Given the description of an element on the screen output the (x, y) to click on. 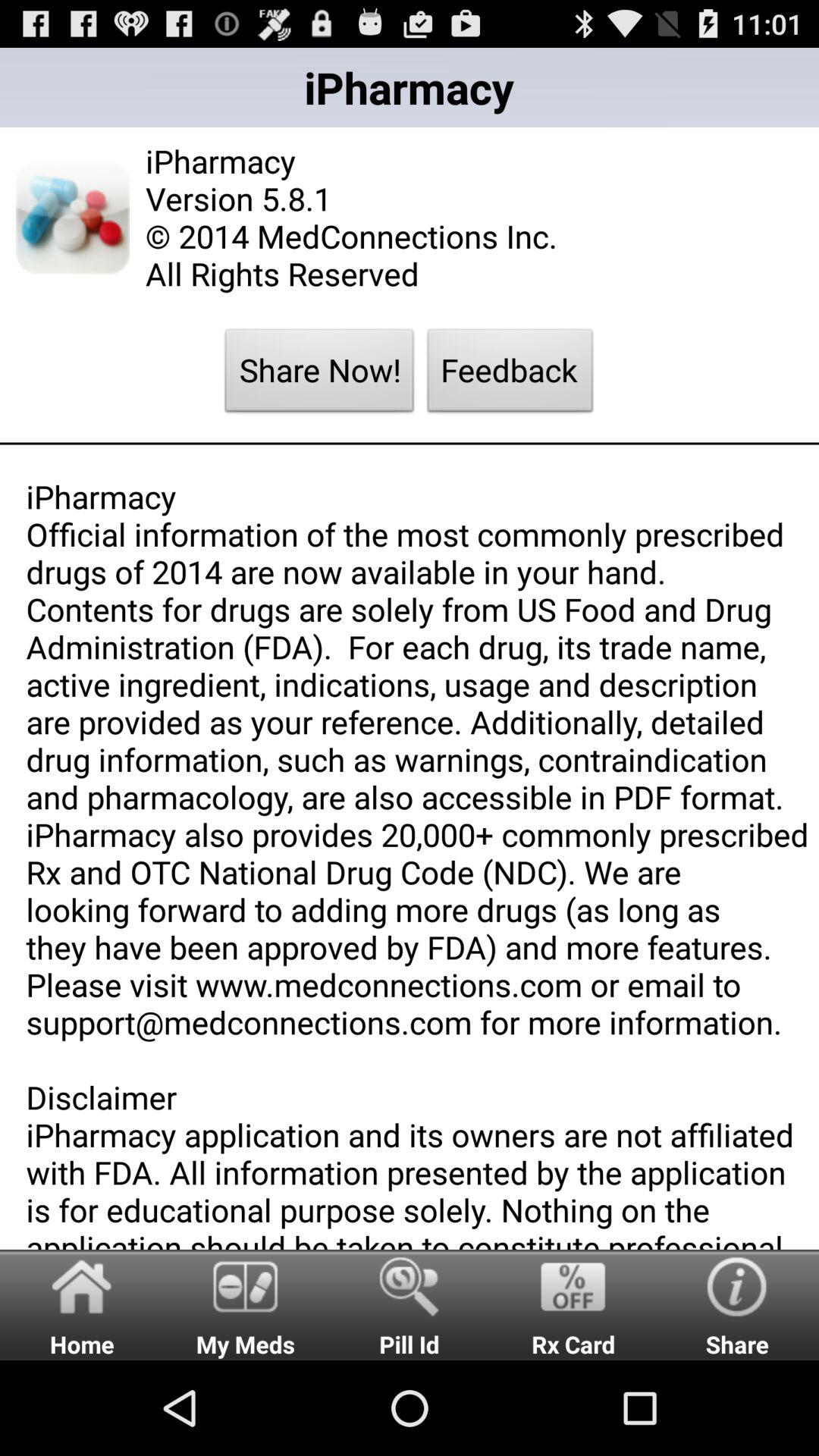
scroll to my meds icon (245, 1304)
